Given the description of an element on the screen output the (x, y) to click on. 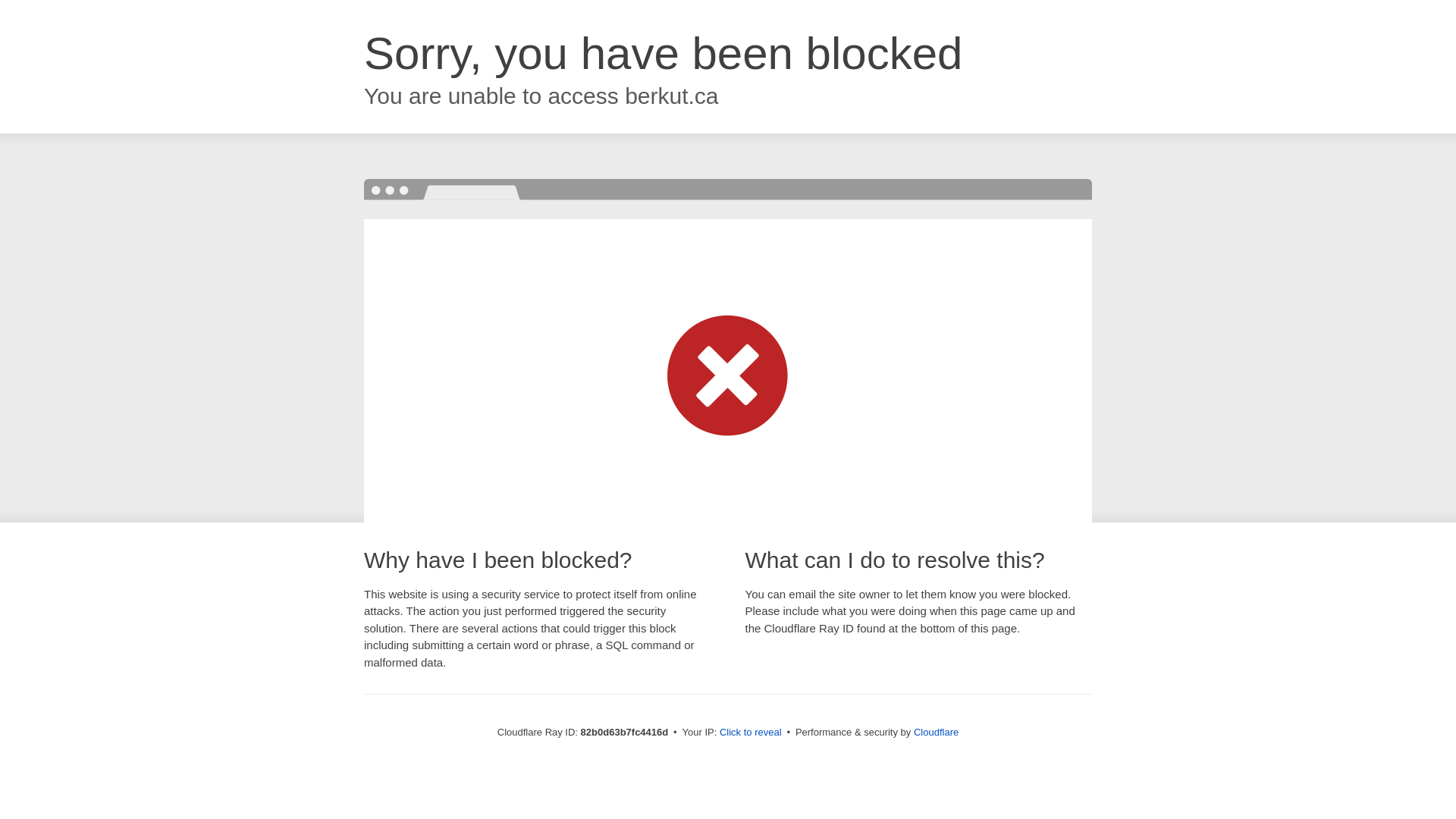
Cloudflare Element type: text (935, 731)
Click to reveal Element type: text (750, 732)
